Given the description of an element on the screen output the (x, y) to click on. 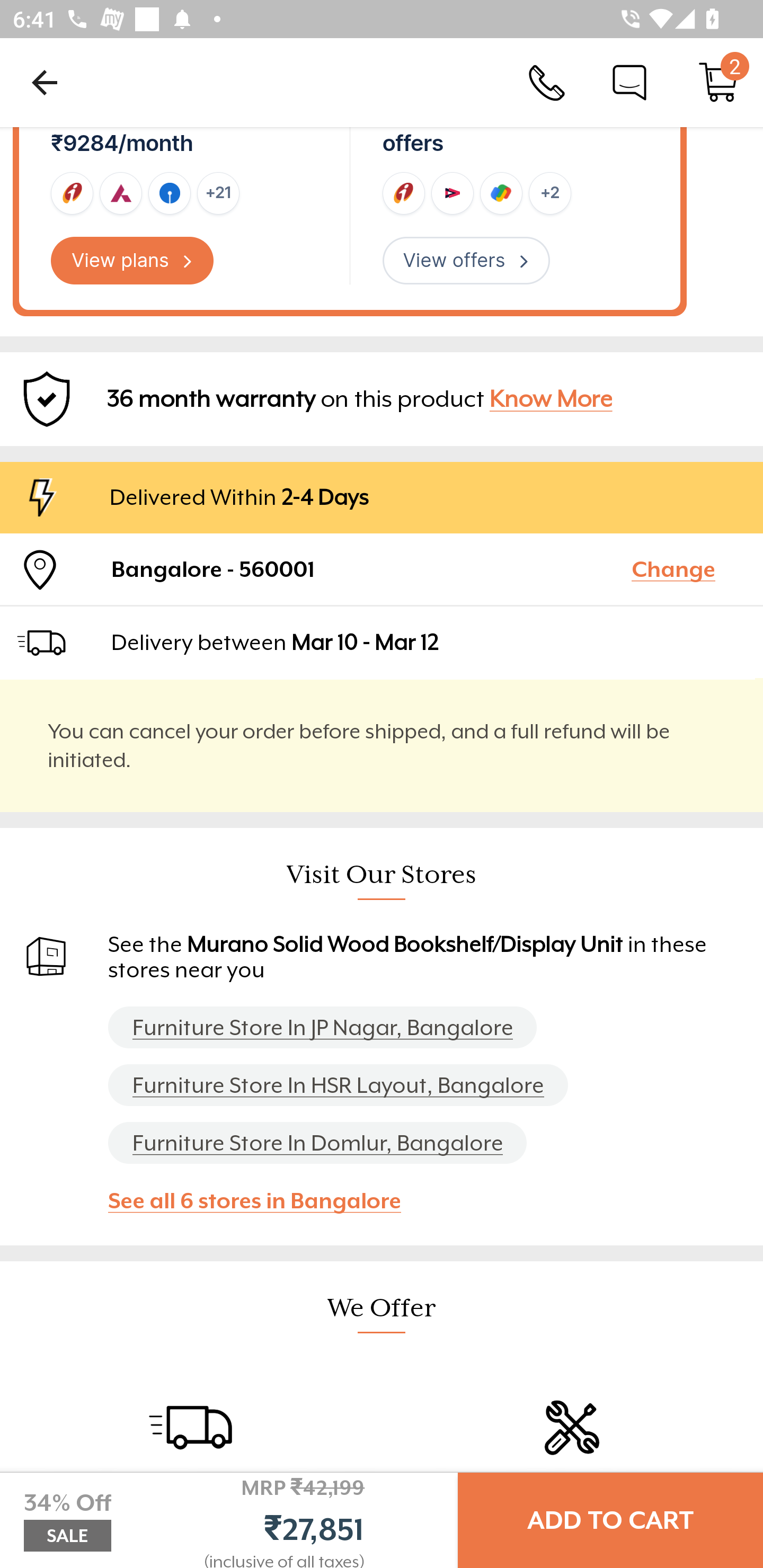
Navigate up (44, 82)
Call Us (546, 81)
Chat (629, 81)
Cart (718, 81)
View plans (132, 260)
View offers (465, 260)
36 month warranty on this product Know More (381, 398)
 Bangalore - 560001 Change (381, 569)
Delivery between Mar 10 - Mar 12 (428, 641)
Furniture Store In JP Nagar, Bangalore (322, 1027)
Furniture Store In HSR Layout, Bangalore (337, 1084)
Furniture Store In Domlur, Bangalore (317, 1142)
See all 6 stores in Bangalore (262, 1200)
ADD TO CART (610, 1520)
